Given the description of an element on the screen output the (x, y) to click on. 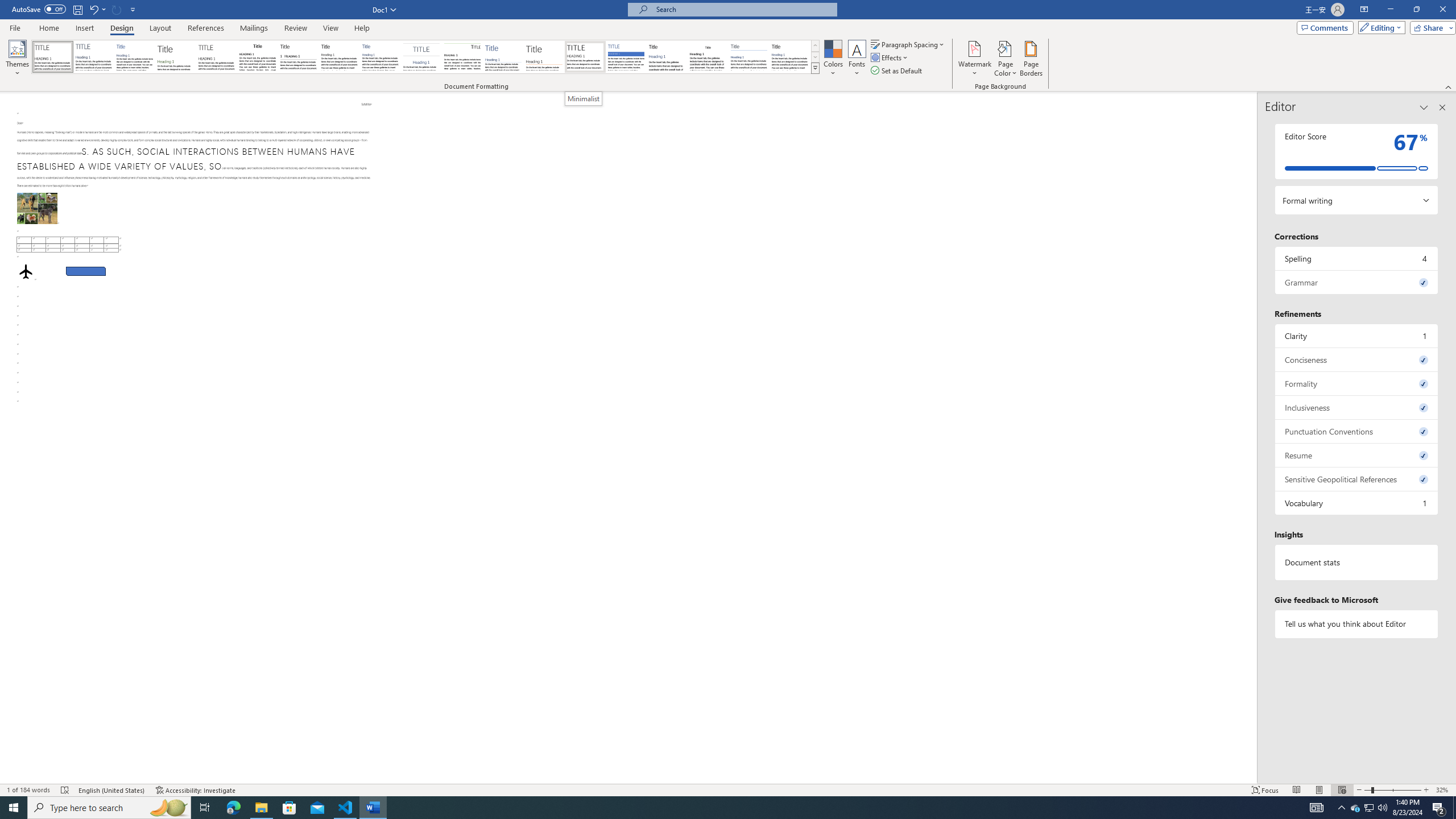
Rectangle: Diagonal Corners Snipped 2 (85, 269)
Basic (Stylish) (175, 56)
Undo Paragraph Alignment (96, 9)
Zoom 32% (1443, 790)
Page Color (1005, 58)
Word 2013 (790, 56)
